Given the description of an element on the screen output the (x, y) to click on. 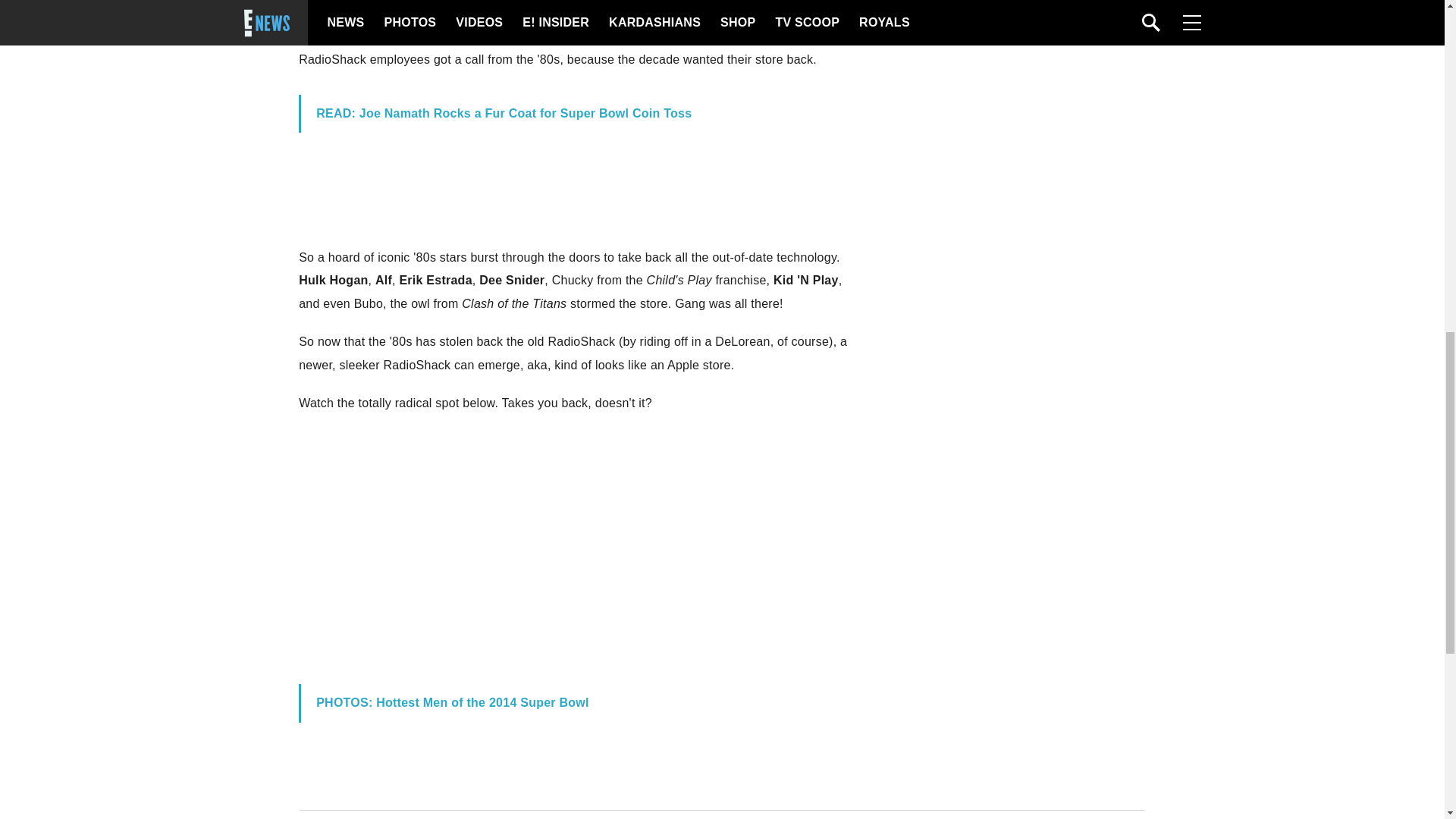
PHOTOS: Hottest Men of the 2014 Super Bowl (452, 702)
READ: Joe Namath Rocks a Fur Coat for Super Bowl Coin Toss (503, 113)
